Given the description of an element on the screen output the (x, y) to click on. 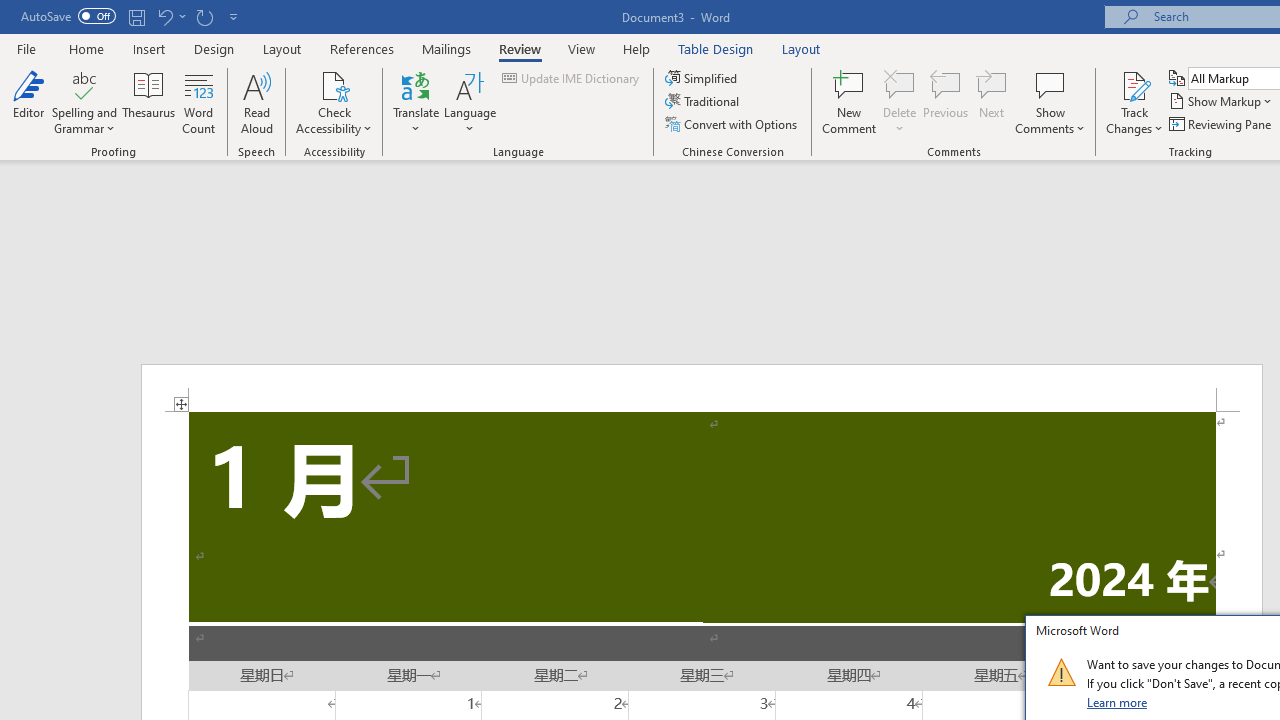
Read Aloud (256, 102)
Delete (900, 102)
Check Accessibility (334, 84)
Repeat Doc Close (204, 15)
Next (991, 102)
Spelling and Grammar (84, 84)
Undo Apply Quick Style (164, 15)
Language (470, 102)
